Given the description of an element on the screen output the (x, y) to click on. 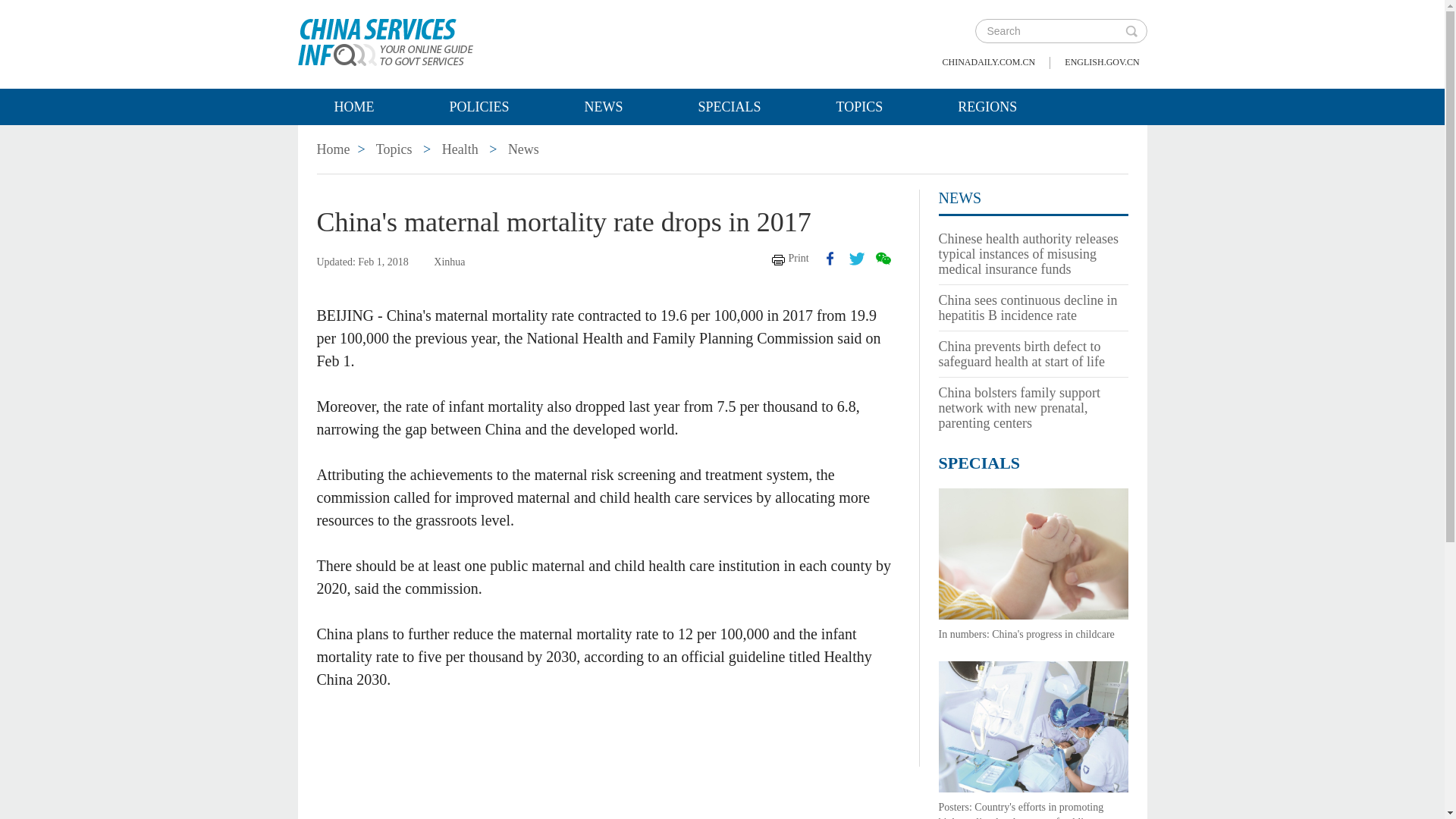
Topics (393, 149)
China sees continuous decline in hepatitis B incidence rate (1028, 307)
english.gov.cn (1101, 61)
News (523, 149)
print (790, 258)
HOME (353, 106)
CHINADAILY.COM.CN (988, 61)
News (603, 106)
News (960, 197)
SPECIALS (979, 462)
TOPICS (859, 106)
facebook (829, 258)
